Given the description of an element on the screen output the (x, y) to click on. 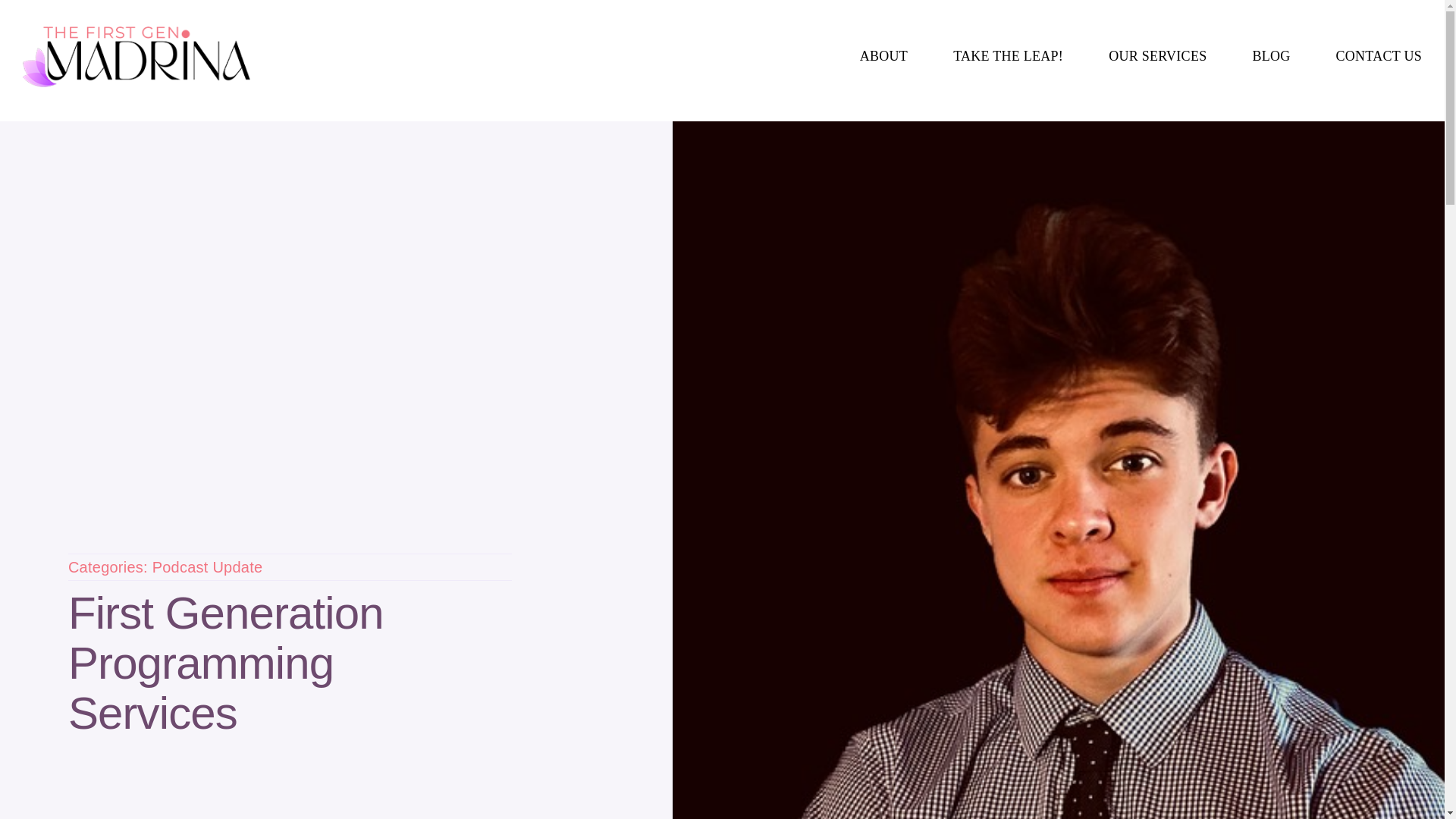
Podcast Update (207, 566)
CONTACT US (1379, 55)
TAKE THE LEAP! (1007, 55)
OUR SERVICES (1157, 55)
